Given the description of an element on the screen output the (x, y) to click on. 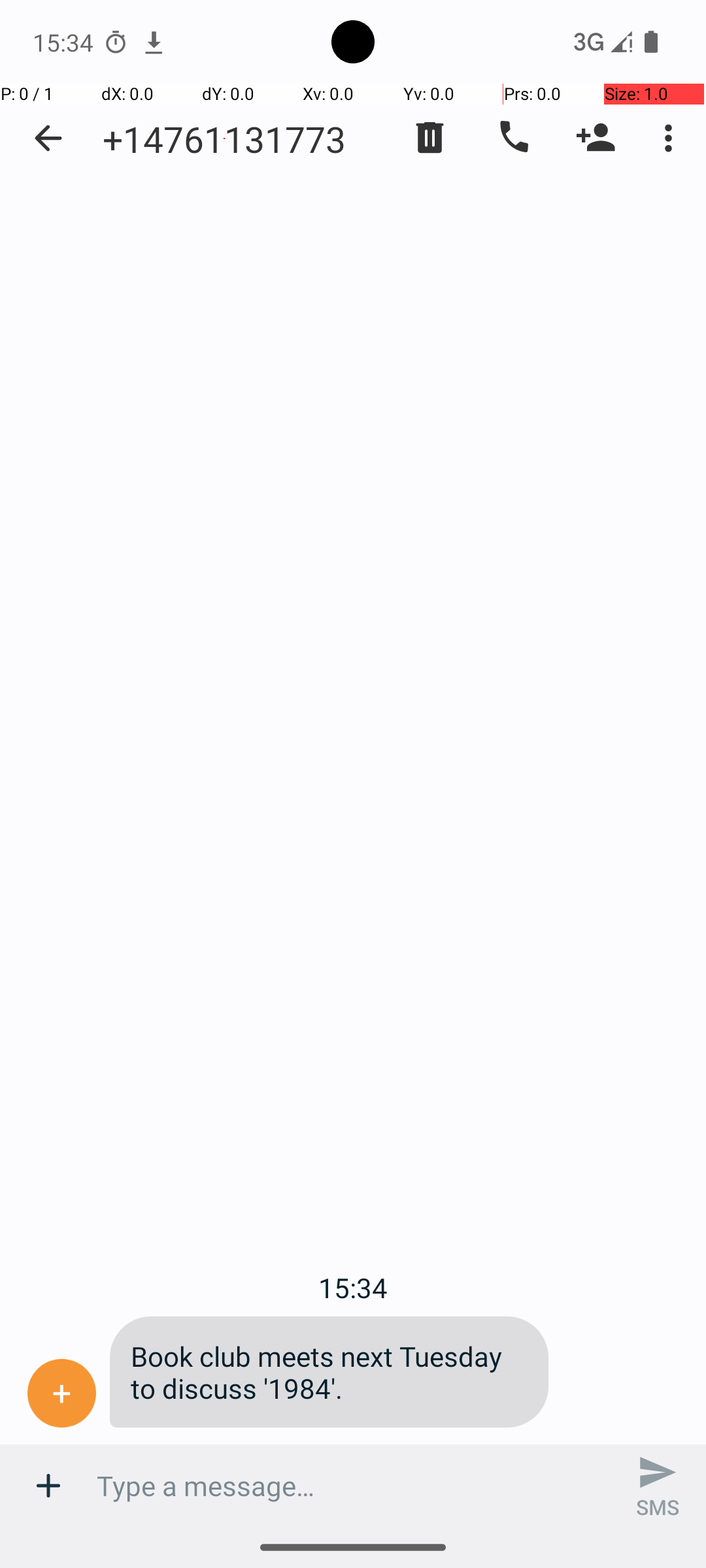
+14761131773 Element type: android.widget.TextView (223, 138)
